Given the description of an element on the screen output the (x, y) to click on. 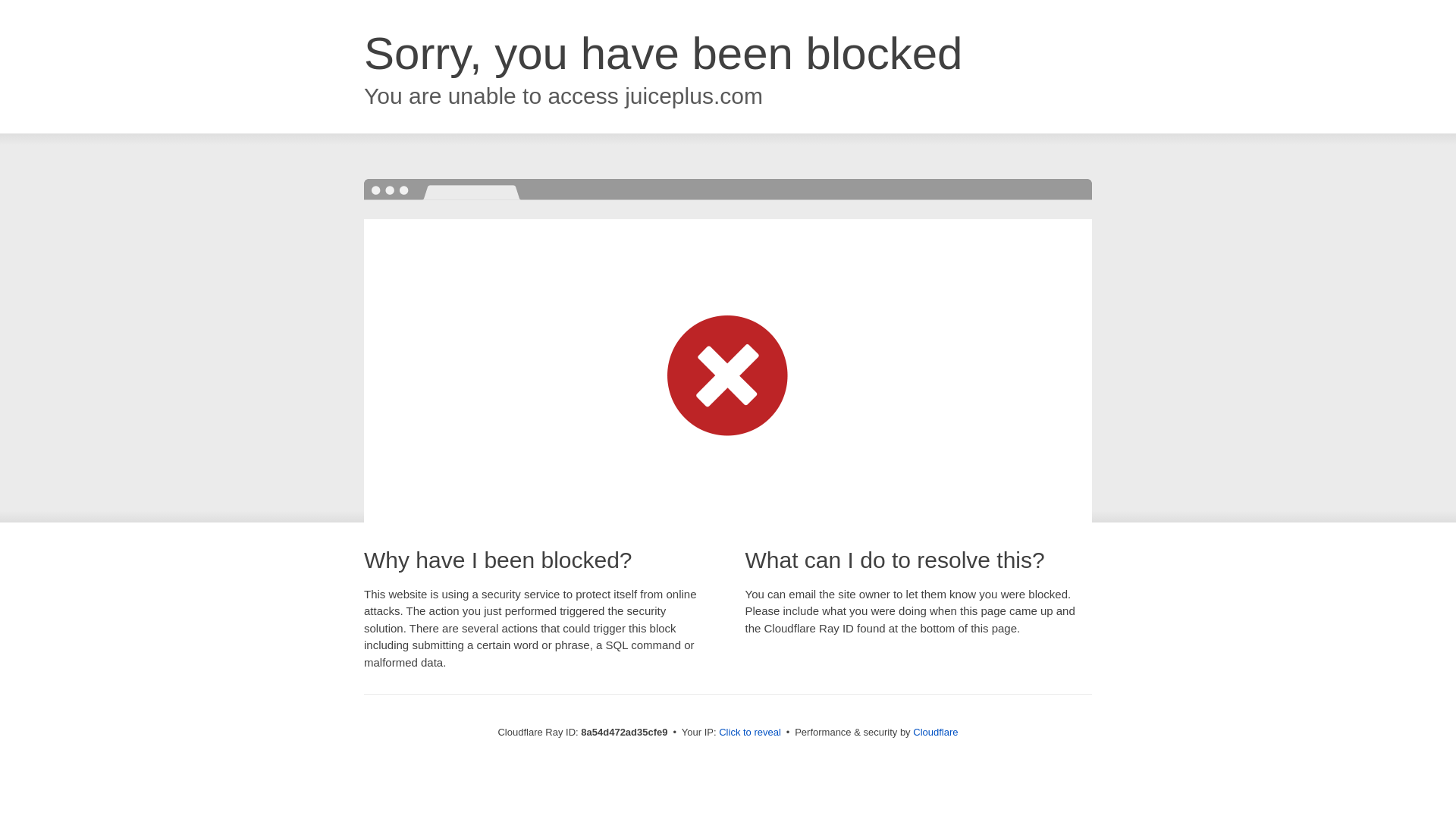
Cloudflare (935, 731)
Click to reveal (749, 732)
